Given the description of an element on the screen output the (x, y) to click on. 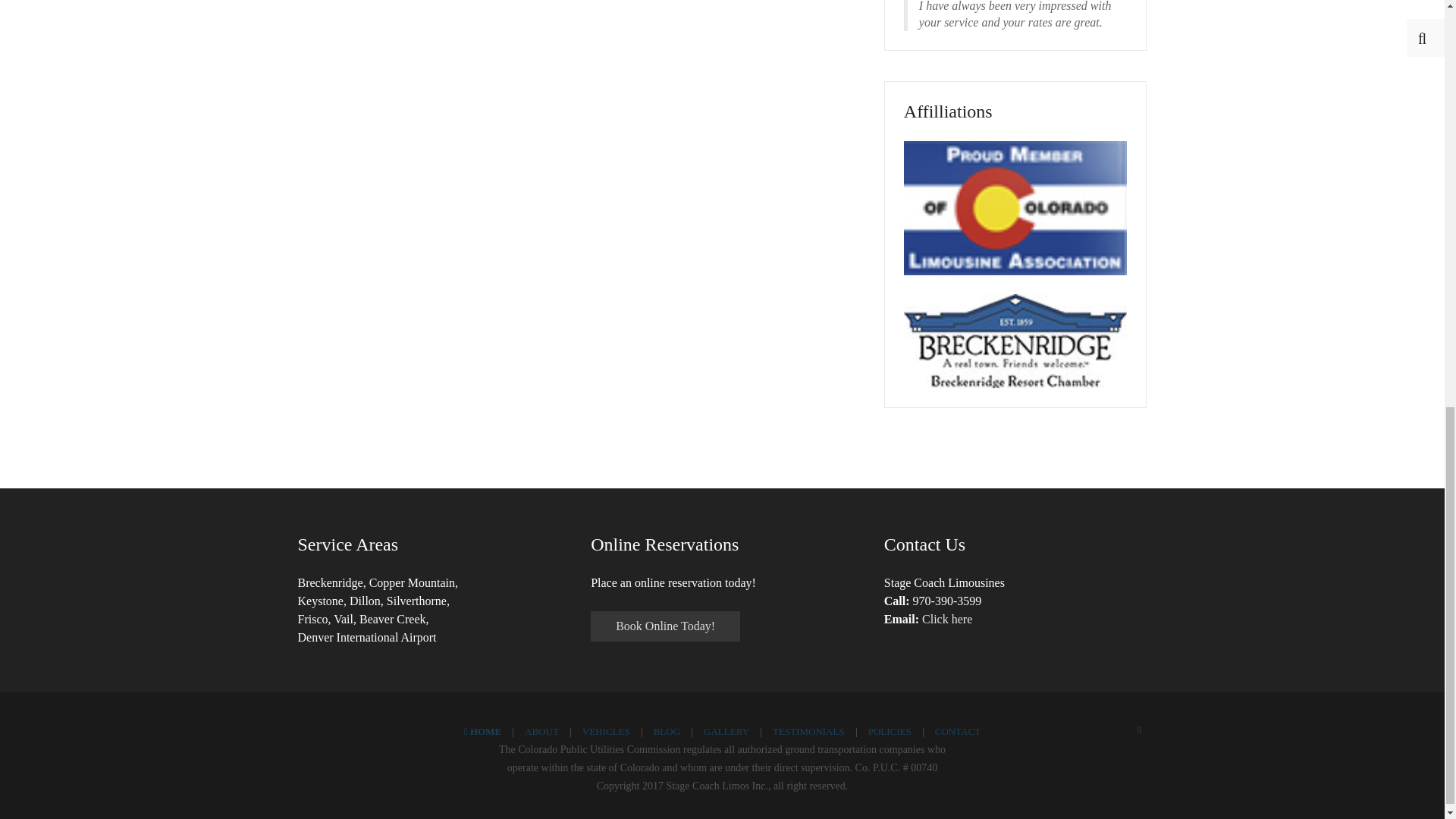
POLICIES (889, 731)
CONTACT (956, 731)
GALLERY (726, 731)
HOME (482, 731)
Book Online Today! (665, 625)
ABOUT (541, 731)
TESTIMONIALS (808, 731)
VEHICLES (606, 731)
Click here (946, 618)
BLOG (666, 731)
